Given the description of an element on the screen output the (x, y) to click on. 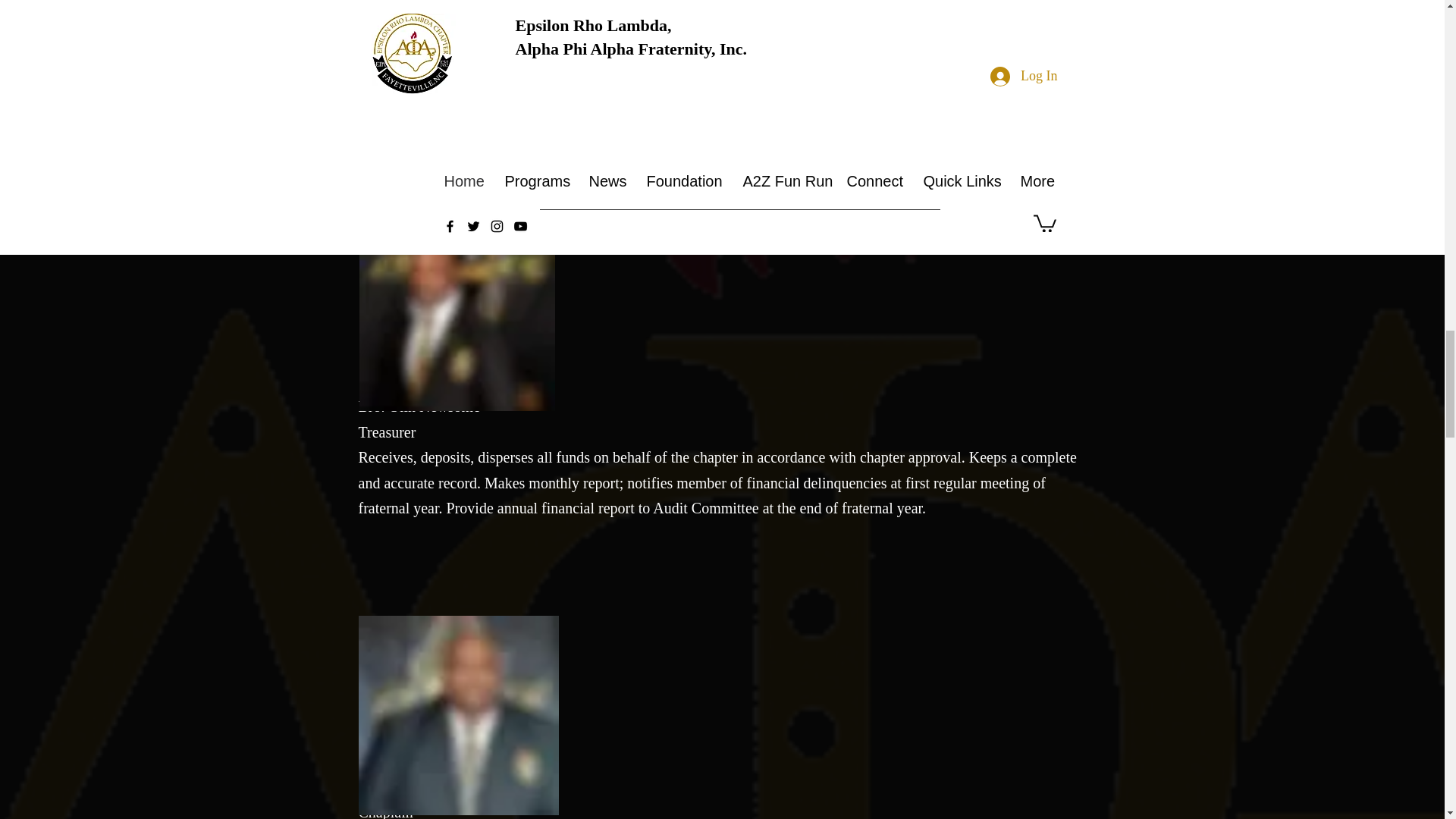
Bro Coleman.jpeg (448, 29)
Bro. Richardson.jpg (456, 311)
Bro. McMillian.jpg (457, 714)
